Given the description of an element on the screen output the (x, y) to click on. 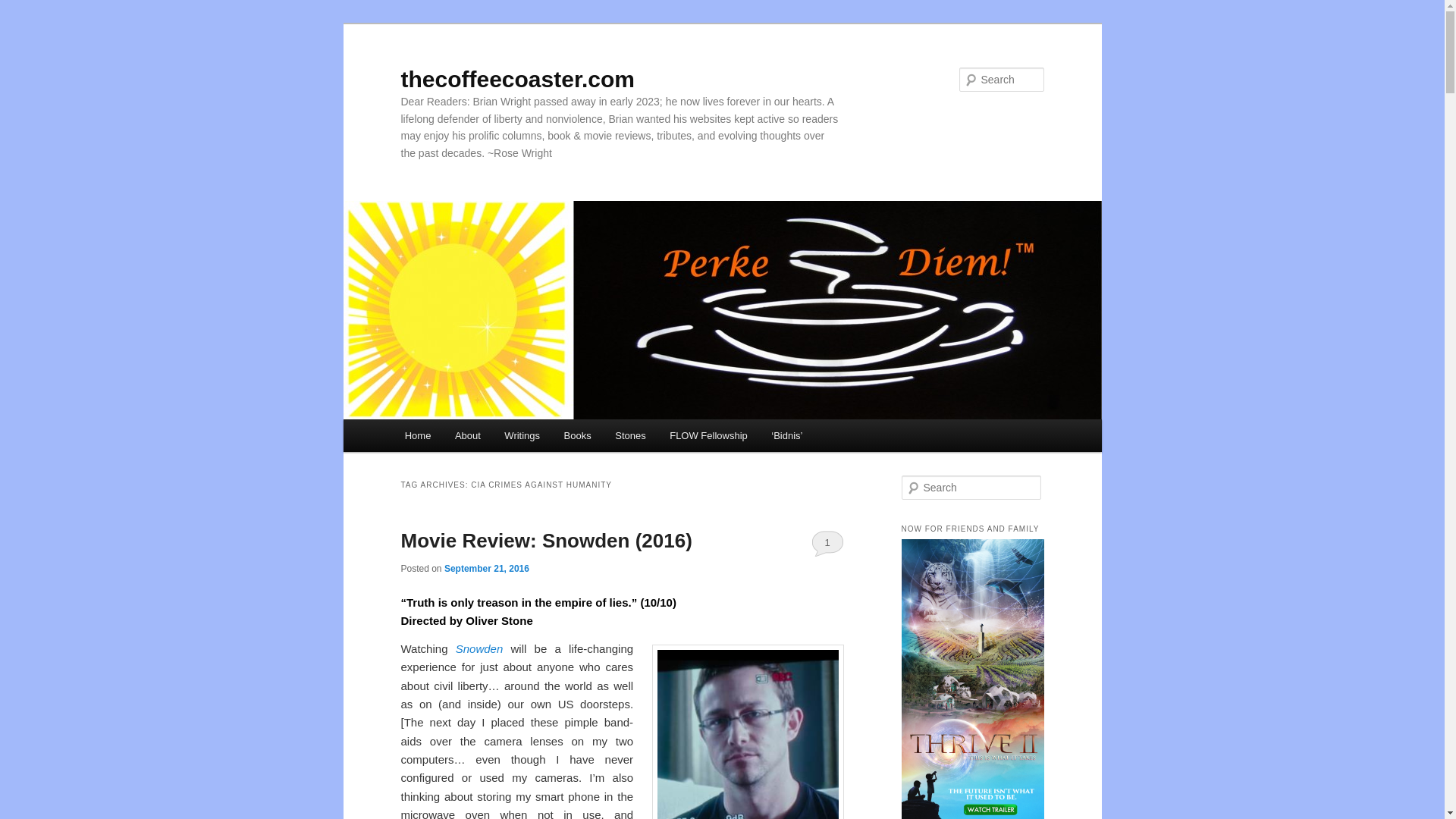
1 (827, 542)
Home (417, 435)
09:51 (486, 568)
FLOW Fellowship (708, 435)
Books (577, 435)
thecoffeecoaster.com (516, 78)
September 21, 2016 (486, 568)
Stones (630, 435)
Search (24, 8)
Writings (522, 435)
About (467, 435)
Snowden (479, 648)
